Given the description of an element on the screen output the (x, y) to click on. 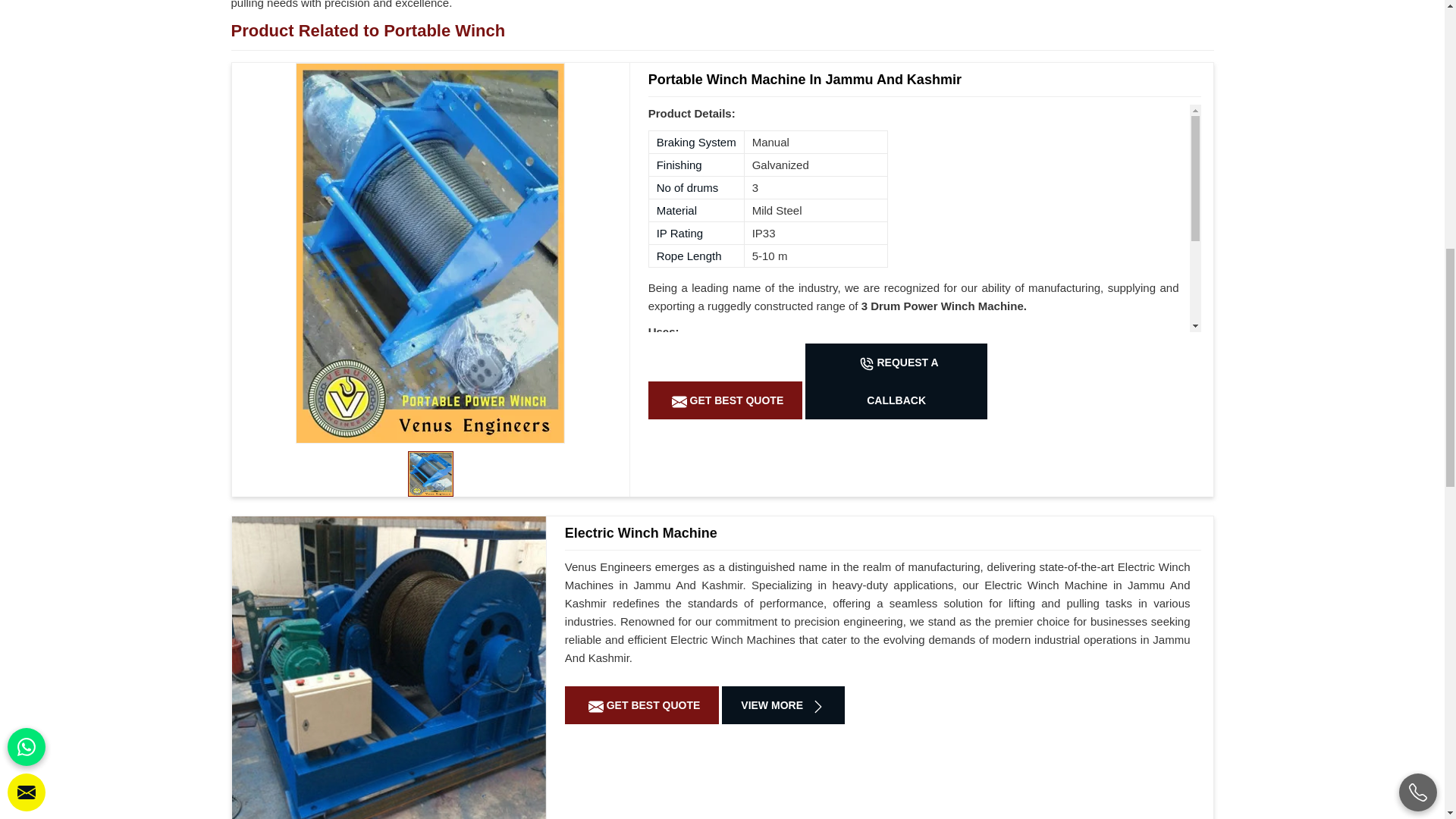
Goto top (1407, 111)
